Given the description of an element on the screen output the (x, y) to click on. 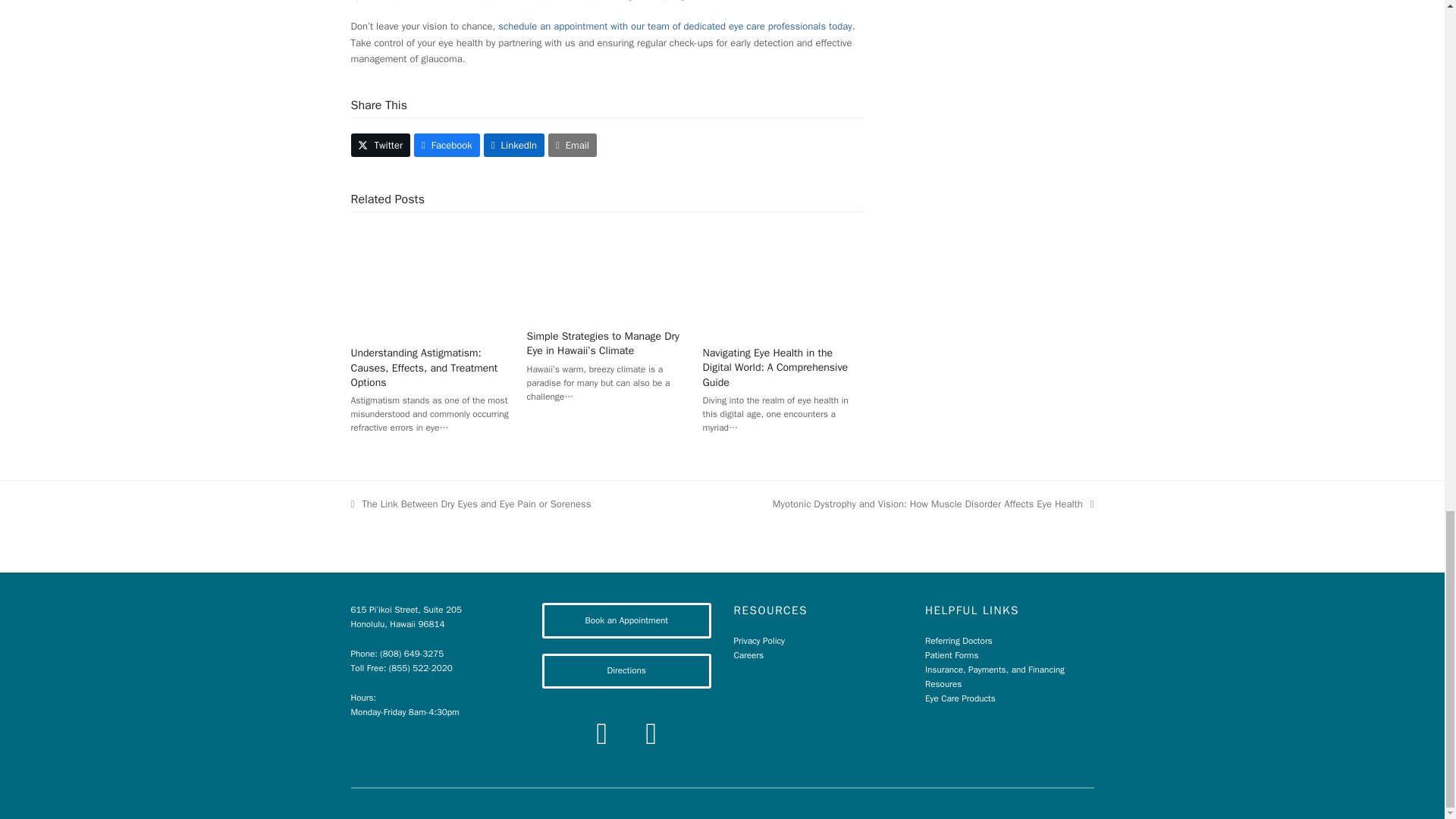
Facebook (601, 733)
LinkedIn (513, 145)
Facebook (446, 145)
Yelp (651, 733)
Twitter (380, 145)
Email (572, 145)
